Given the description of an element on the screen output the (x, y) to click on. 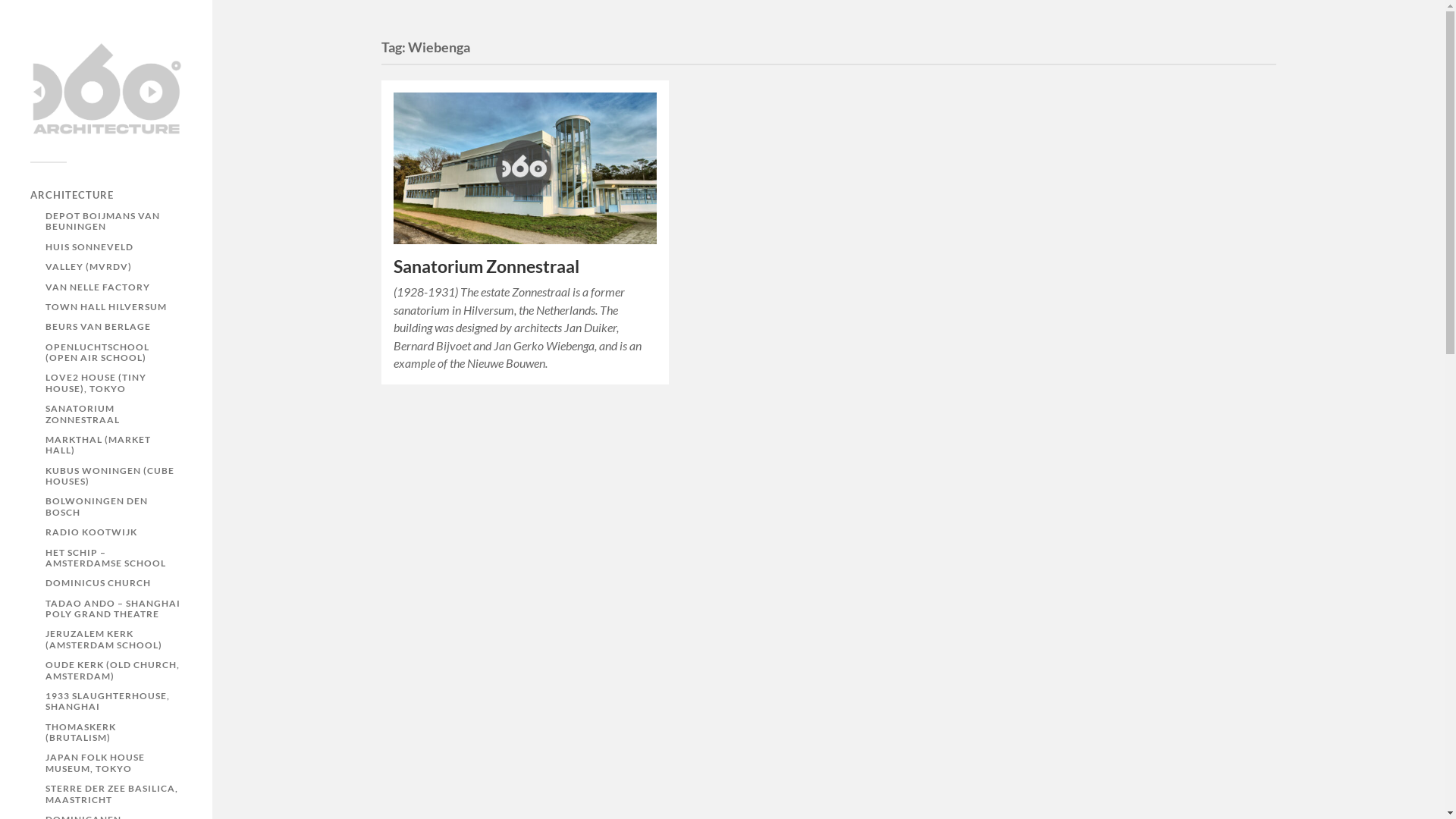
OPENLUCHTSCHOOL (OPEN AIR SCHOOL) Element type: text (97, 352)
JAPAN FOLK HOUSE MUSEUM, TOKYO Element type: text (94, 762)
VAN NELLE FACTORY Element type: text (97, 286)
TOWN HALL HILVERSUM Element type: text (105, 306)
DEPOT BOIJMANS VAN BEUNINGEN Element type: text (102, 220)
VALLEY (MVRDV) Element type: text (88, 266)
Sanatorium Zonnestraal Element type: text (485, 266)
OUDE KERK (OLD CHURCH, AMSTERDAM) Element type: text (112, 669)
RADIO KOOTWIJK Element type: text (91, 531)
DOMINICUS CHURCH Element type: text (97, 582)
1933 SLAUGHTERHOUSE, SHANGHAI Element type: text (107, 700)
BOLWONINGEN DEN BOSCH Element type: text (96, 505)
JERUZALEM KERK (AMSTERDAM SCHOOL) Element type: text (103, 638)
SANATORIUM ZONNESTRAAL Element type: text (82, 413)
STERRE DER ZEE BASILICA, MAASTRICHT Element type: text (111, 793)
KUBUS WONINGEN (CUBE HOUSES) Element type: text (109, 475)
BEURS VAN BERLAGE Element type: text (97, 326)
ARCHITECTURE Element type: text (71, 194)
THOMASKERK (BRUTALISM) Element type: text (80, 731)
HUIS SONNEVELD Element type: text (89, 246)
MARKTHAL (MARKET HALL) Element type: text (97, 444)
LOVE2 HOUSE (TINY HOUSE), TOKYO Element type: text (95, 382)
